Given the description of an element on the screen output the (x, y) to click on. 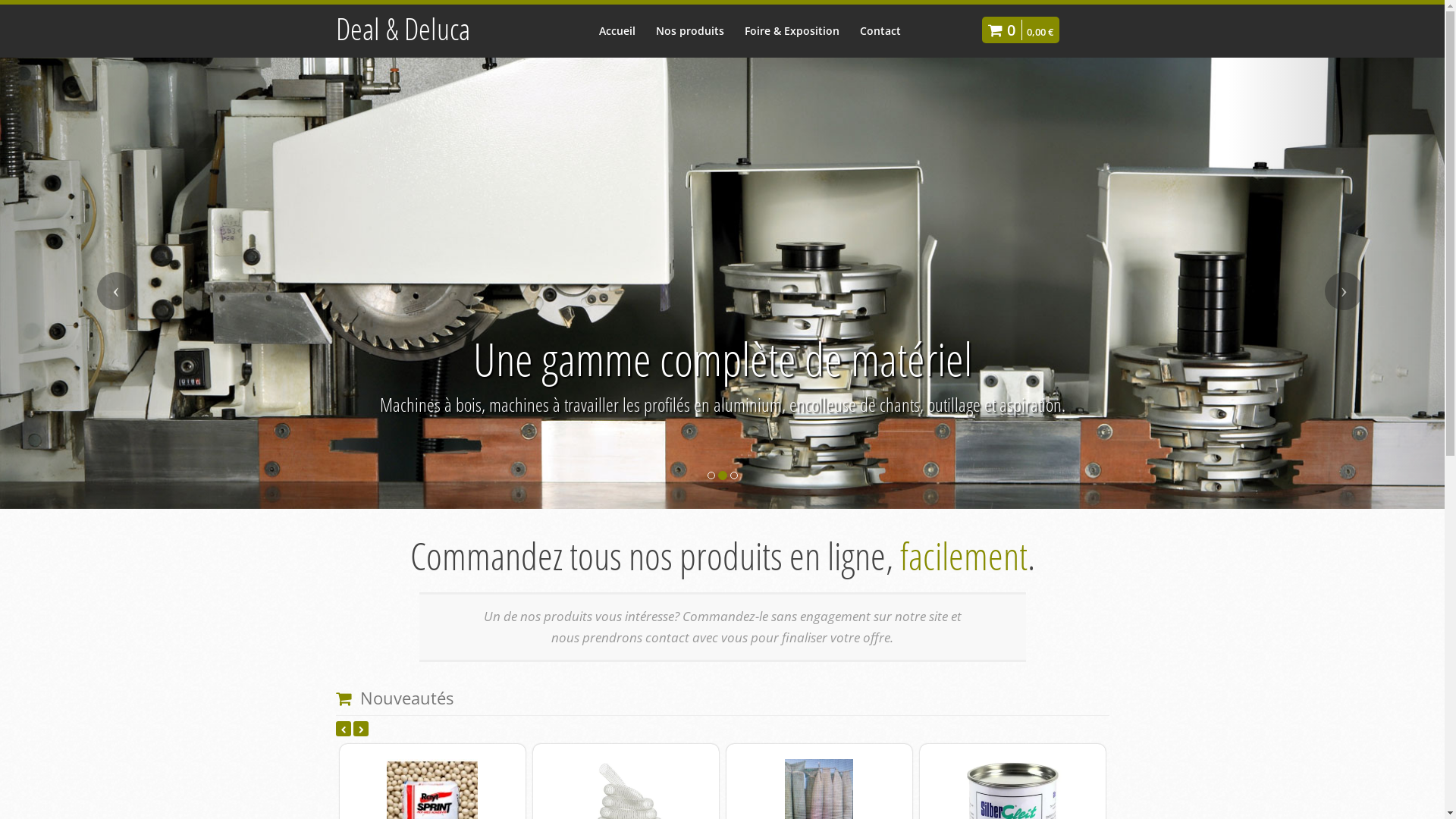
Foire & Exposition Element type: text (791, 30)
Accueil Element type: text (616, 30)
Deal & Deluca Element type: text (402, 28)
Nos produits Element type: text (689, 30)
Contact Element type: text (880, 30)
